Given the description of an element on the screen output the (x, y) to click on. 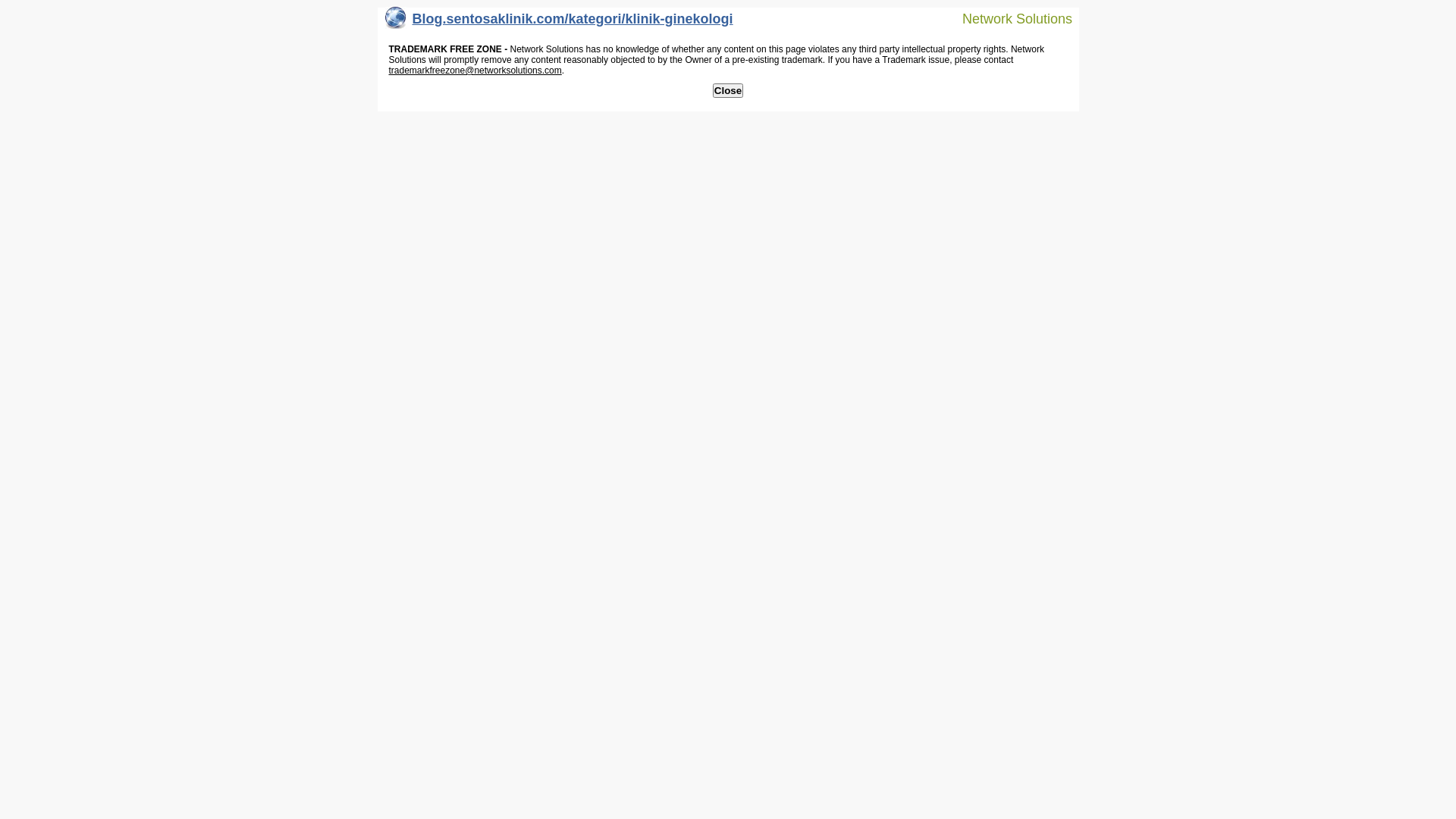
Network Solutions Element type: text (1007, 17)
Blog.sentosaklinik.com/kategori/klinik-ginekologi Element type: text (559, 21)
Close Element type: text (727, 90)
trademarkfreezone@networksolutions.com Element type: text (474, 70)
